Given the description of an element on the screen output the (x, y) to click on. 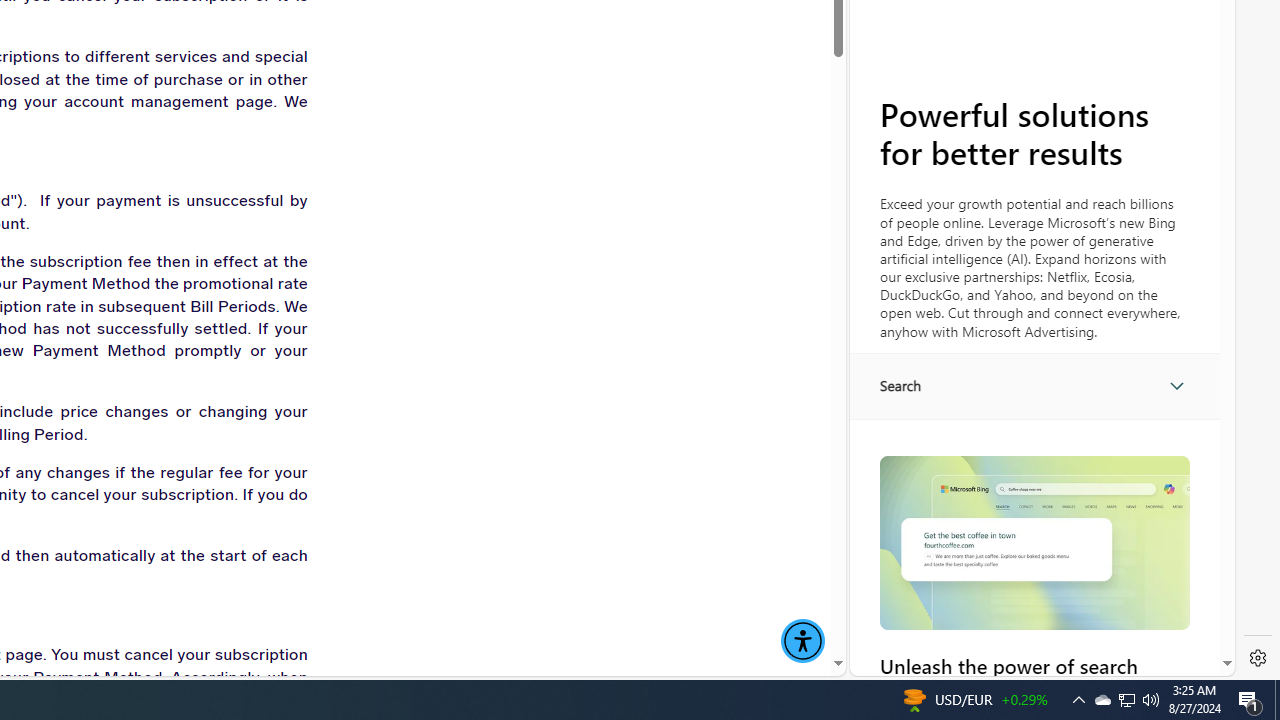
AutomationID: search (1034, 385)
Open in New Tab (1042, 631)
